Given the description of an element on the screen output the (x, y) to click on. 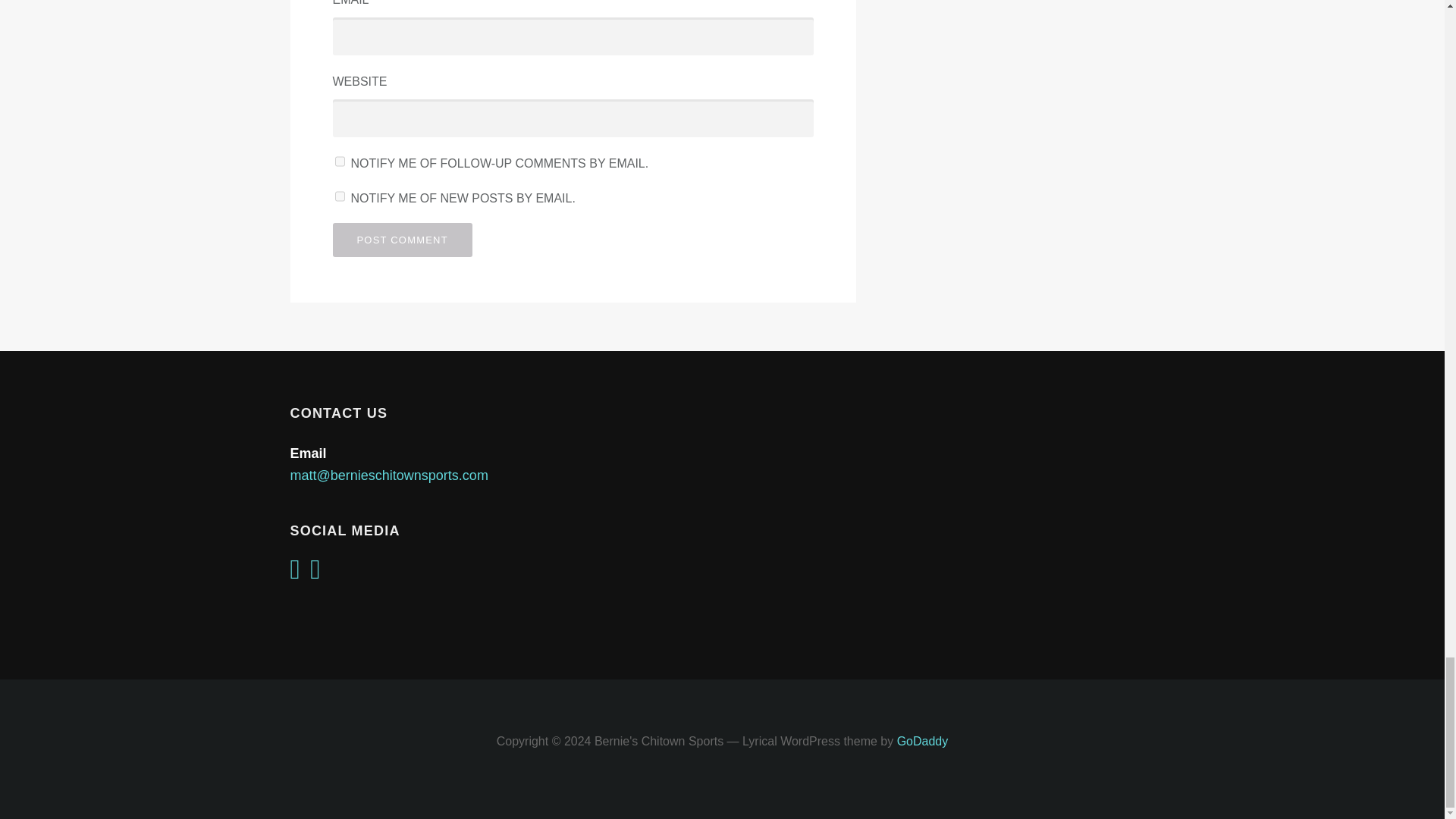
Post Comment (401, 239)
Post Comment (401, 239)
